Given the description of an element on the screen output the (x, y) to click on. 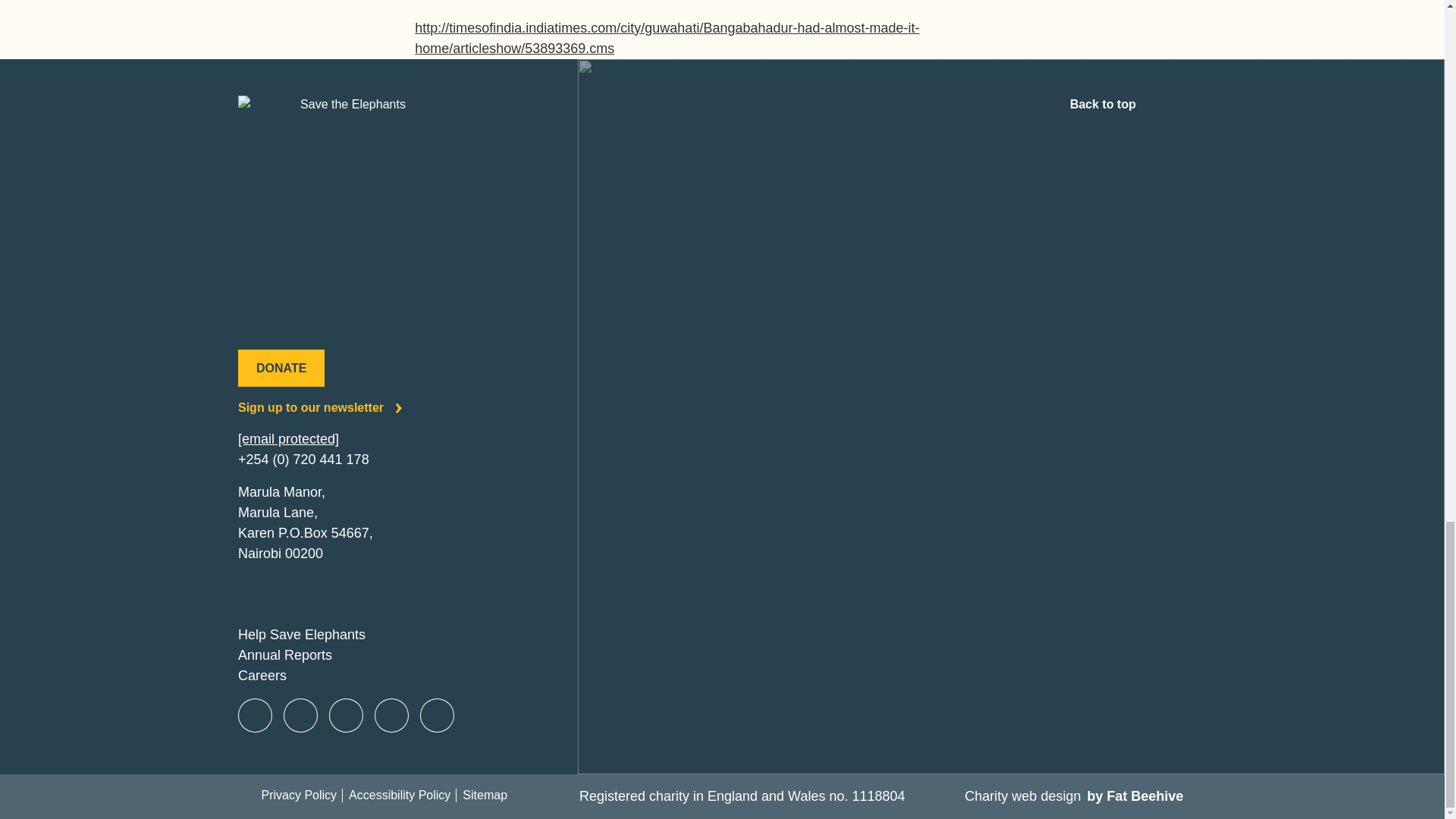
Youtube (391, 715)
Twitter (301, 715)
Linkedin (437, 715)
Instagram (346, 715)
Facebook (254, 715)
